Given the description of an element on the screen output the (x, y) to click on. 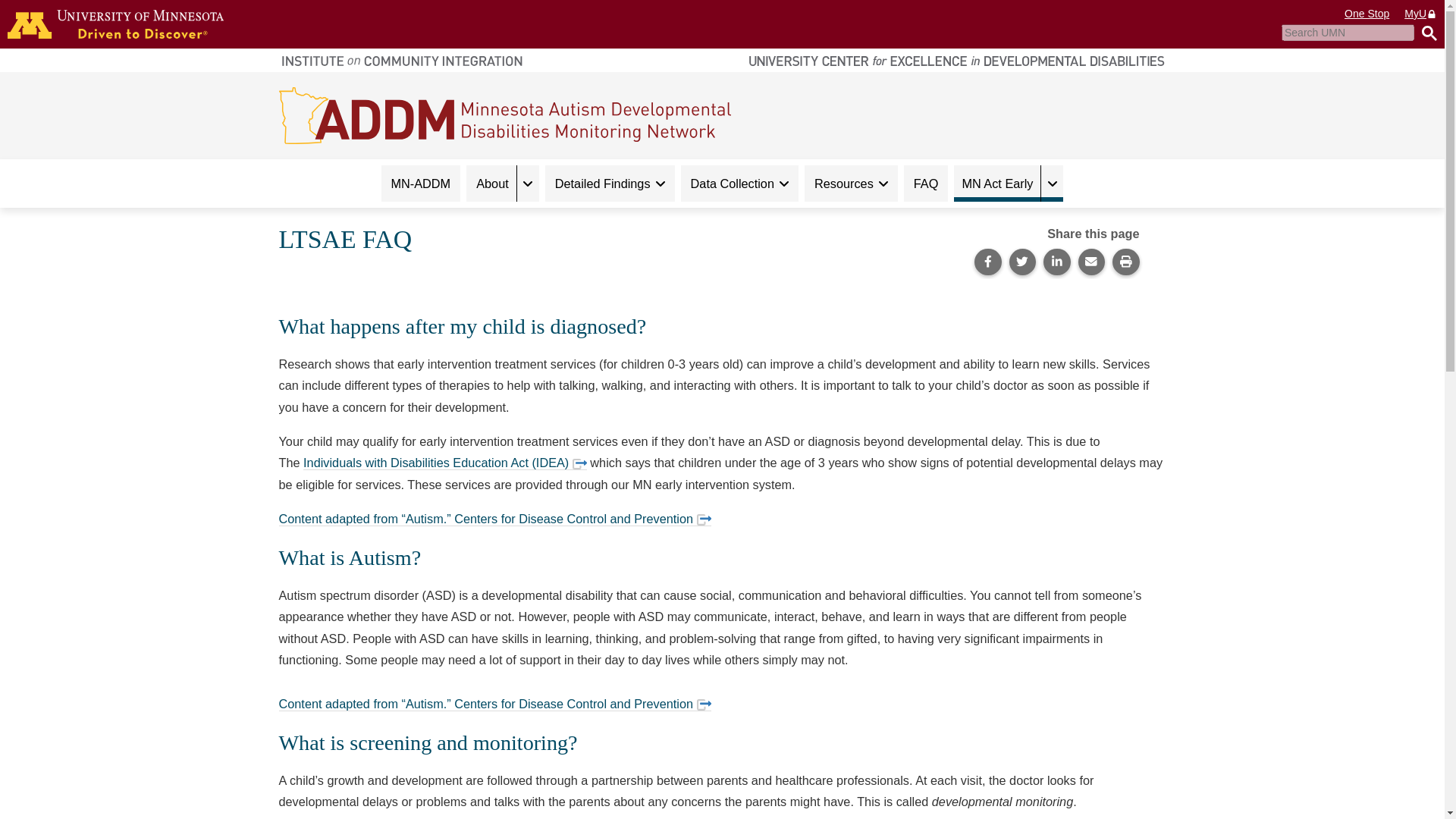
Goto Website Homepage (505, 114)
MN-ADDM (420, 183)
Opens an external site or resource (704, 704)
Data Collection (739, 183)
Resources (851, 183)
Share this page on Facebook. (987, 262)
Button (1425, 32)
home page (115, 24)
Opens an external site or resource (704, 519)
MyU (1421, 13)
Opens an external site or resource (579, 464)
Share this page on LinkedIn. (1056, 262)
About (490, 183)
Print this page. (1126, 262)
Share this page via email. (1091, 262)
